Given the description of an element on the screen output the (x, y) to click on. 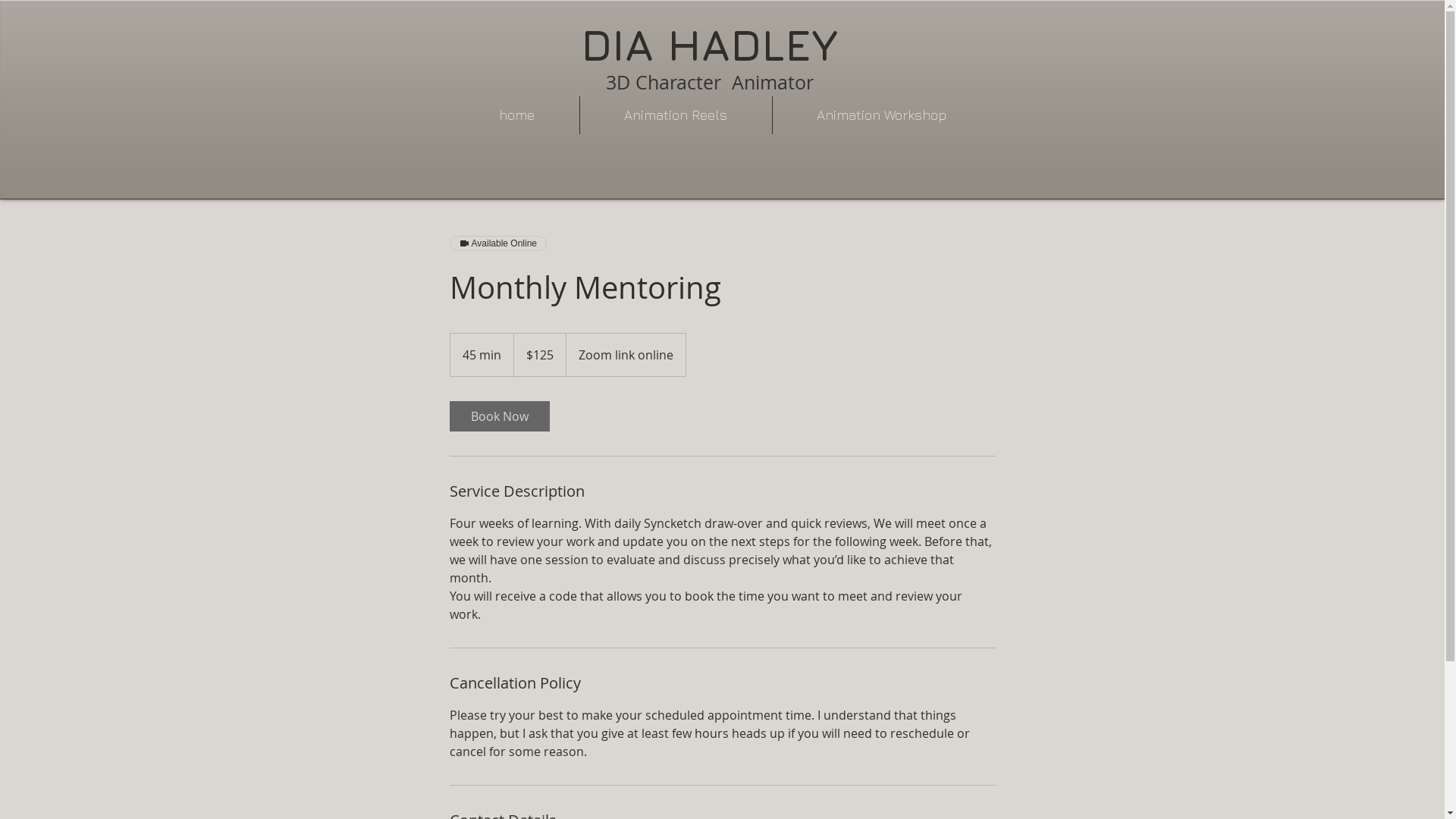
home Element type: text (515, 115)
Animation Workshop Element type: text (880, 115)
Book Now Element type: text (498, 416)
Animation Reels Element type: text (675, 115)
